Given the description of an element on the screen output the (x, y) to click on. 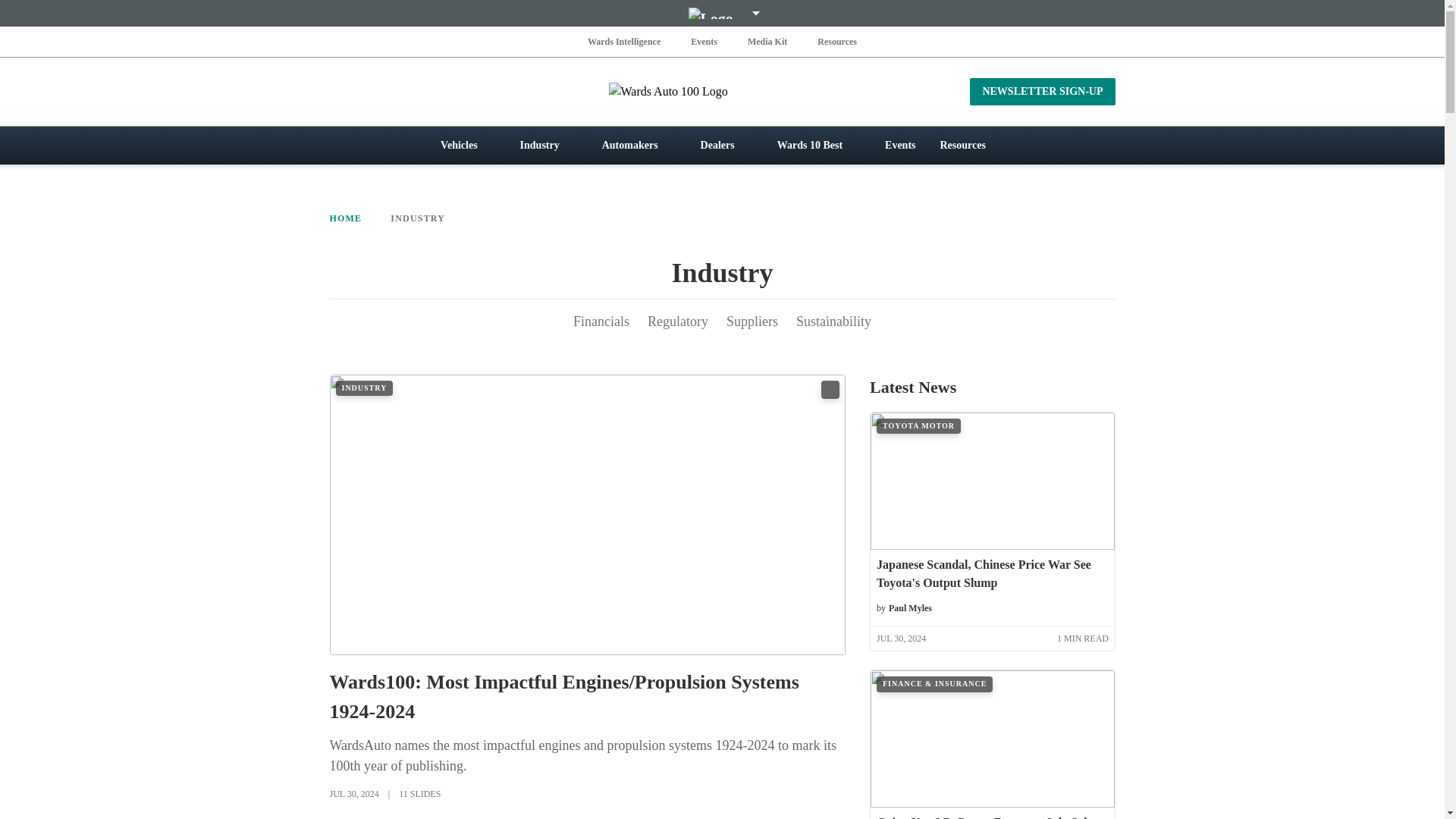
Resources (836, 41)
Media Kit (767, 41)
Wards Intelligence (624, 41)
Link to all slideshow (829, 389)
Wards Auto 100 Logo (721, 91)
Events (703, 41)
NEWSLETTER SIGN-UP (1042, 90)
